Given the description of an element on the screen output the (x, y) to click on. 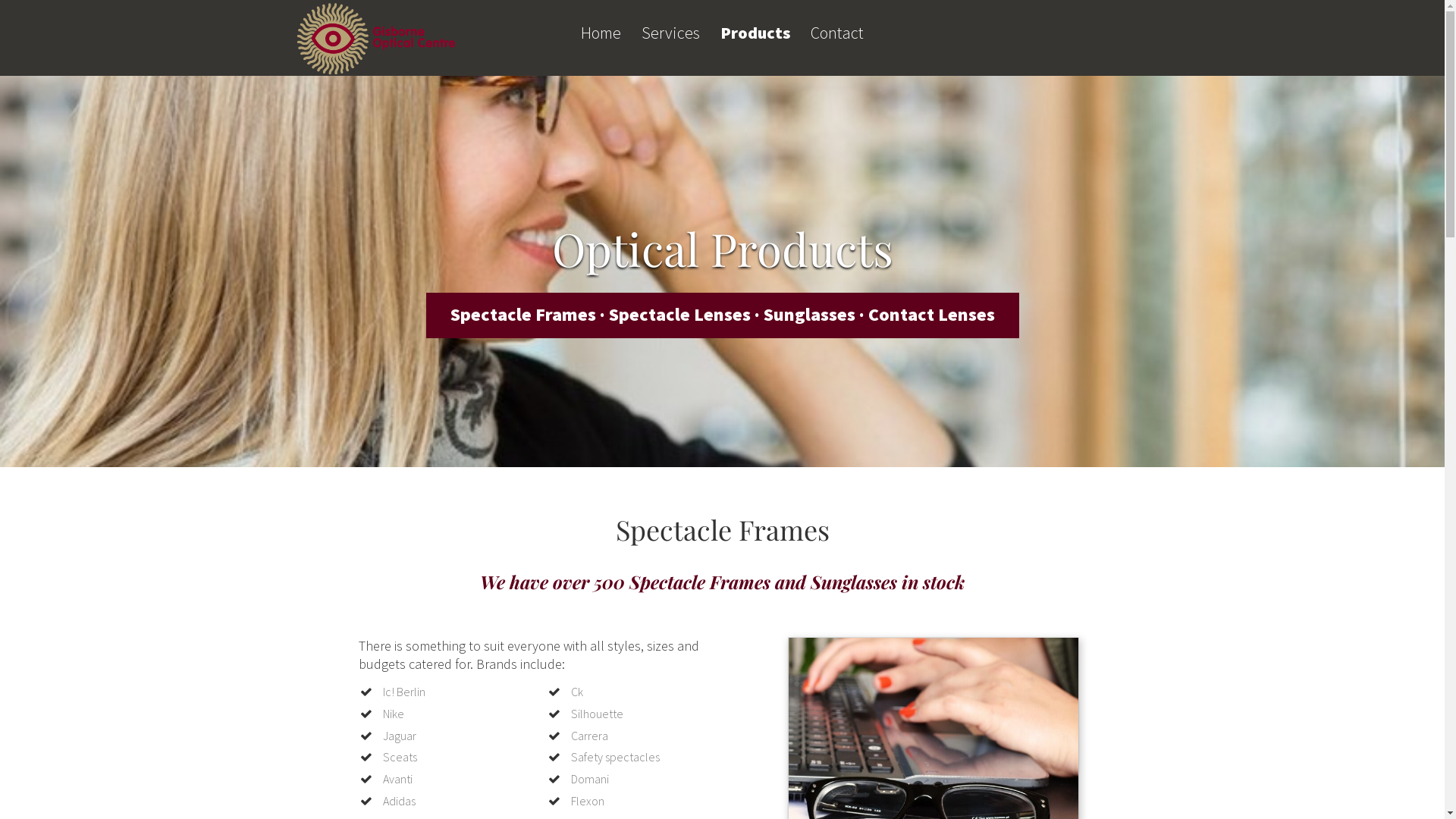
Services Element type: text (670, 44)
Spectacle Lenses Element type: text (678, 314)
Spectacle Frames Element type: text (523, 314)
Contact Lenses Element type: text (930, 314)
Sunglasses Element type: text (808, 314)
Home Element type: text (600, 44)
Products Element type: text (755, 44)
Contact Element type: text (836, 44)
